Given the description of an element on the screen output the (x, y) to click on. 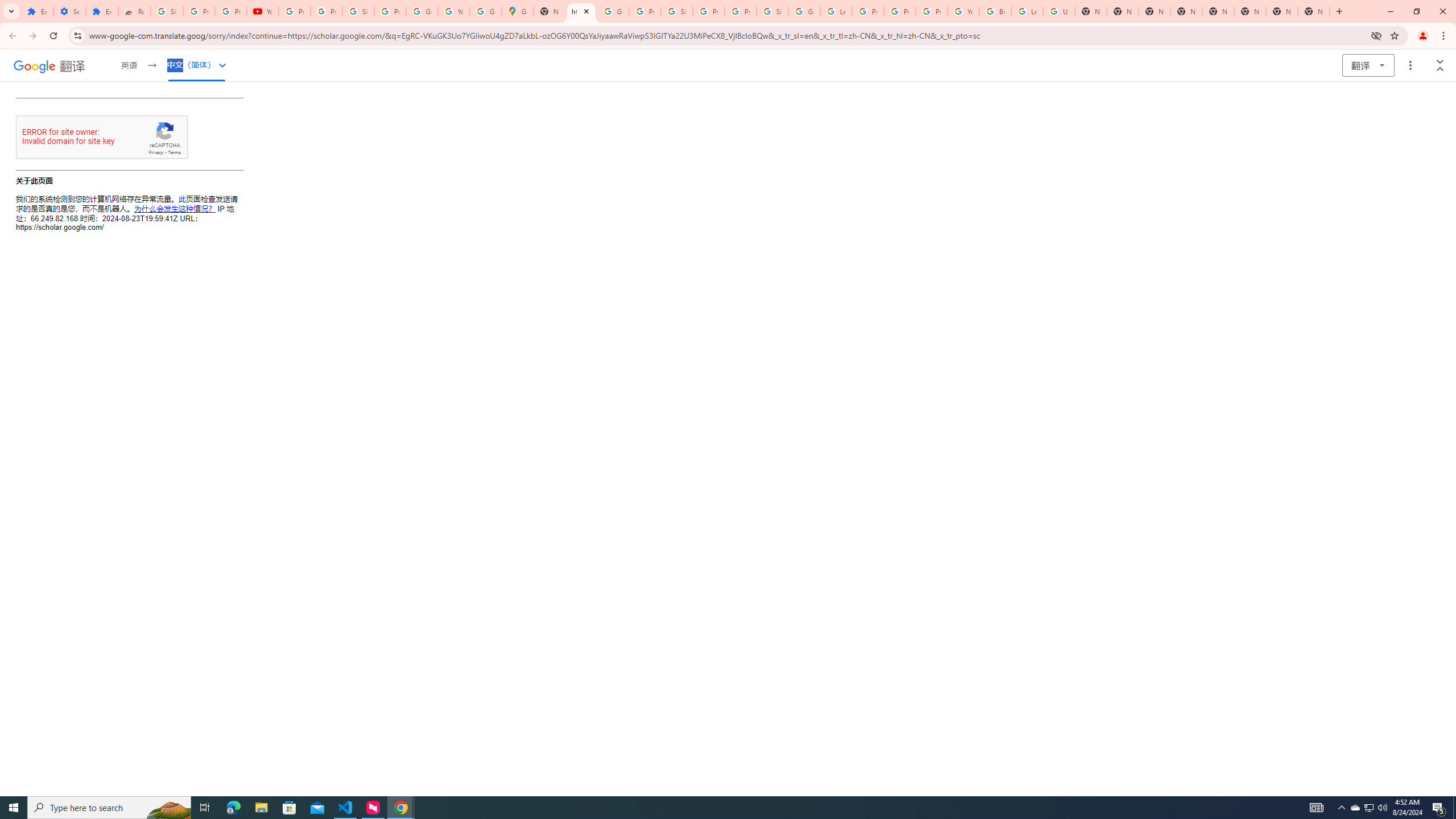
https://scholar.google.com/ (581, 11)
Privacy Help Center - Policies Help (868, 11)
Sign in - Google Accounts (358, 11)
Extensions (37, 11)
New Tab (1313, 11)
